Given the description of an element on the screen output the (x, y) to click on. 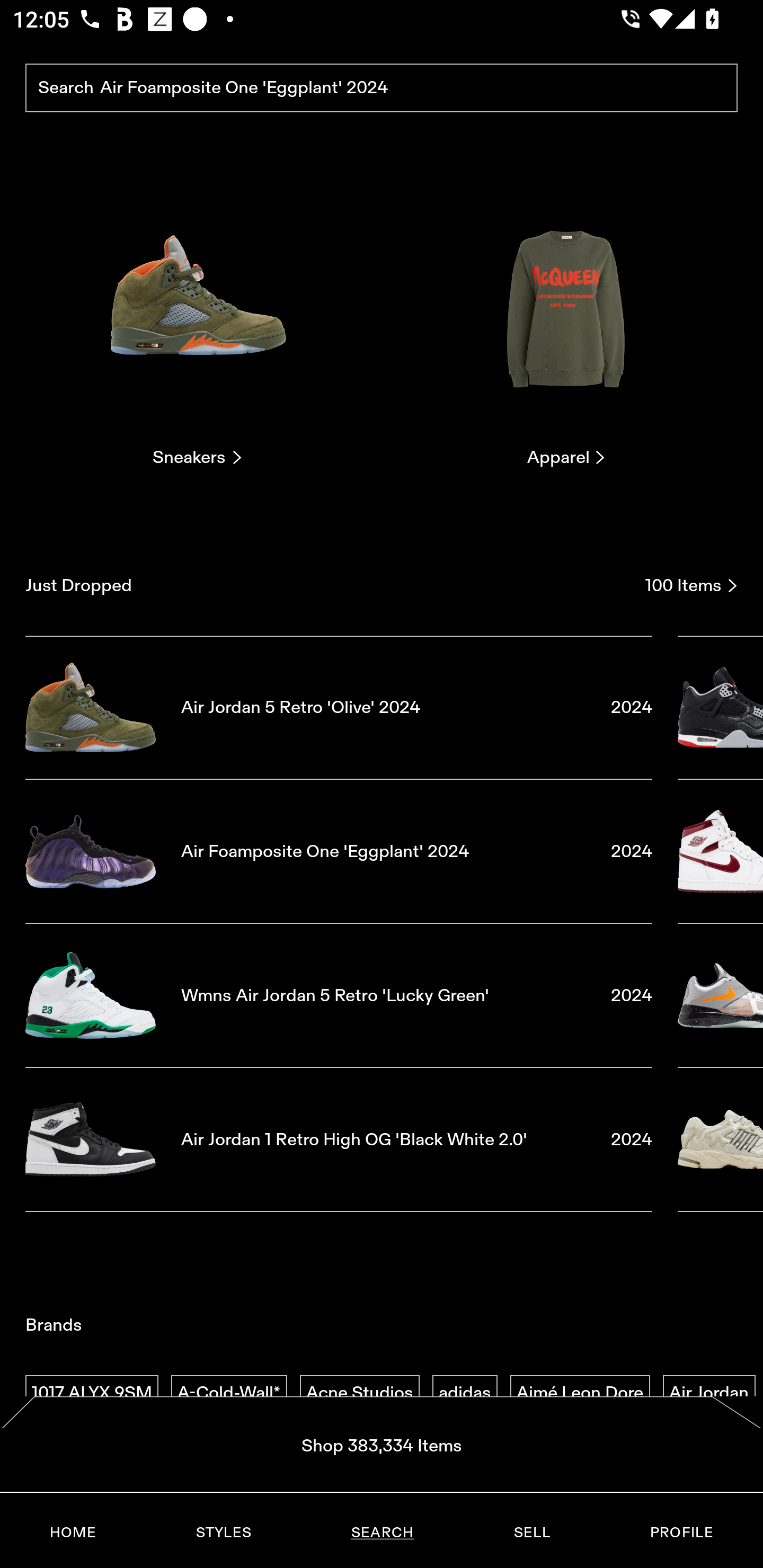
Search (381, 88)
Sneakers (196, 323)
Apparel (565, 323)
Just Dropped (328, 585)
100 Items (691, 585)
Air Jordan 5 Retro 'Olive' 2024 2024 (338, 707)
Air Foamposite One 'Eggplant' 2024 2024 (338, 851)
Wmns Air Jordan 5 Retro 'Lucky Green' 2024 (338, 995)
Air Jordan 1 Retro High OG 'Black White 2.0' 2024 (338, 1139)
1017 ALYX 9SM (91, 1393)
A-Cold-Wall* (228, 1393)
Acne Studios (359, 1393)
adidas (464, 1393)
Aimé Leon Dore (580, 1393)
Air Jordan (709, 1393)
HOME (72, 1532)
STYLES (222, 1532)
SEARCH (381, 1532)
SELL (531, 1532)
PROFILE (681, 1532)
